Given the description of an element on the screen output the (x, y) to click on. 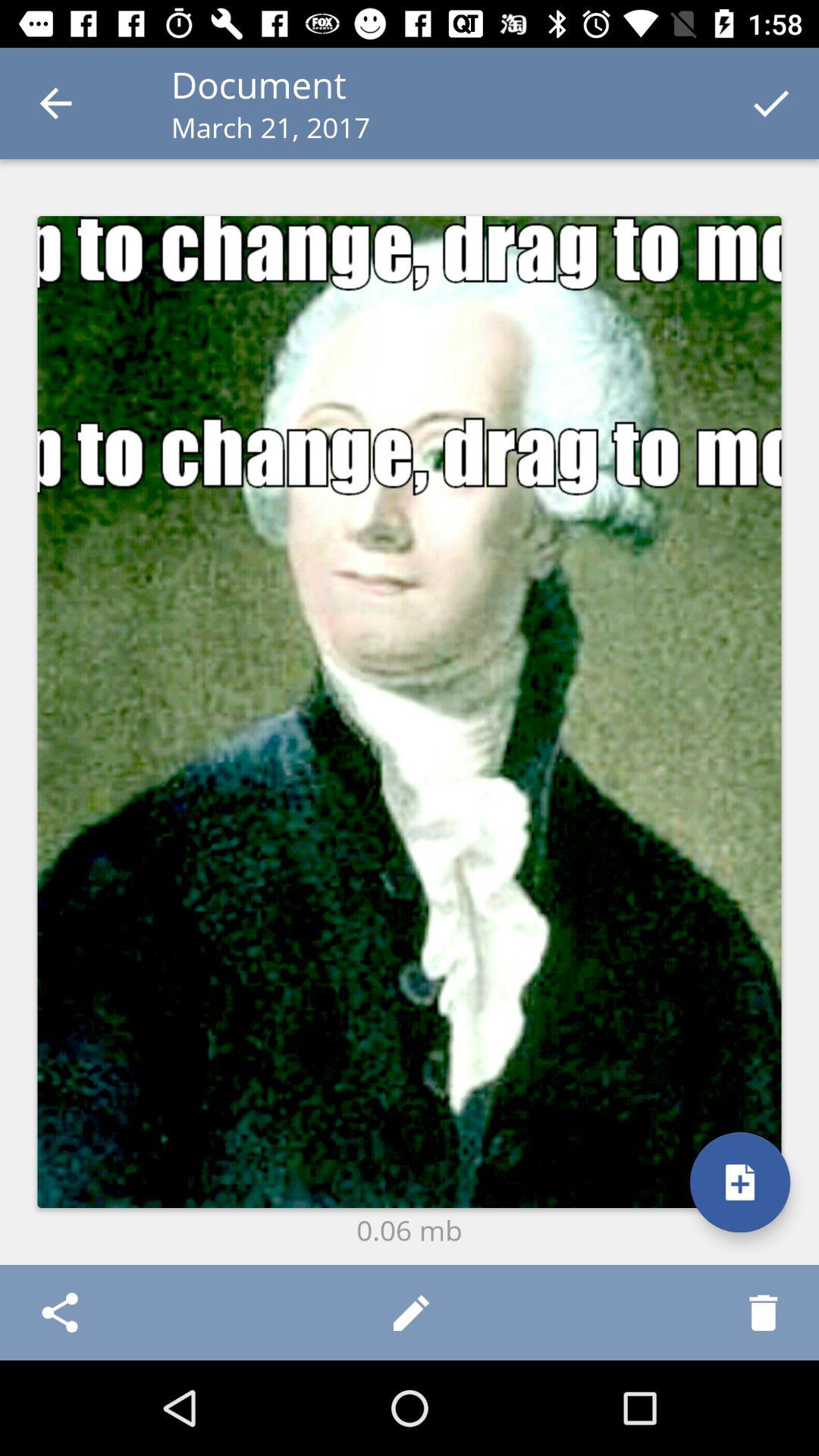
turn off item below the 0.06 mb item (411, 1312)
